Given the description of an element on the screen output the (x, y) to click on. 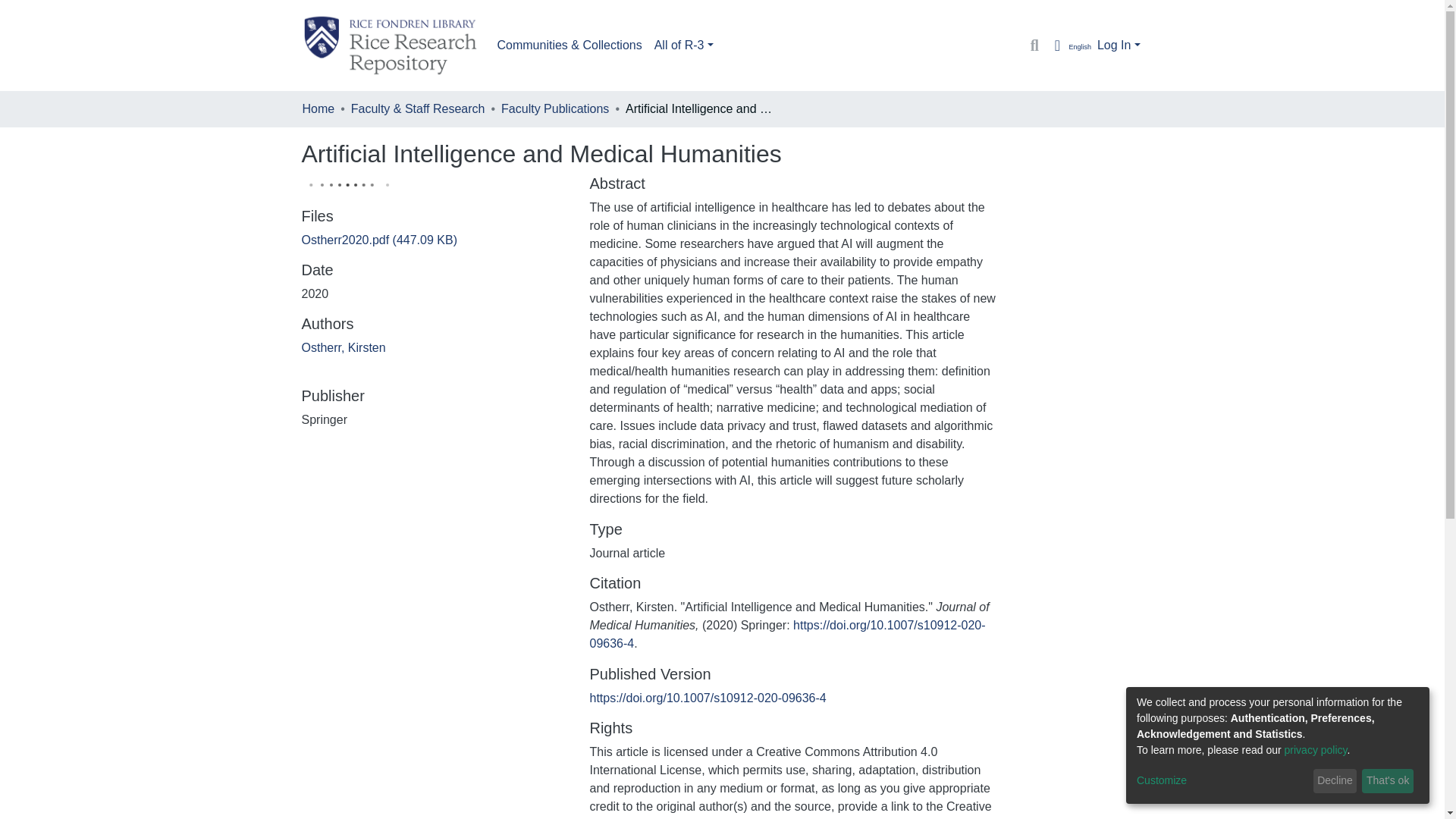
Customize (1222, 780)
Decline (1334, 781)
Ostherr, Kirsten (343, 347)
That's ok (1387, 781)
Log In (1118, 44)
Search (1035, 45)
Language switch (1069, 45)
privacy policy (1316, 749)
All of R-3 (683, 45)
Faculty Publications (554, 108)
English (1069, 45)
Home (317, 108)
